Given the description of an element on the screen output the (x, y) to click on. 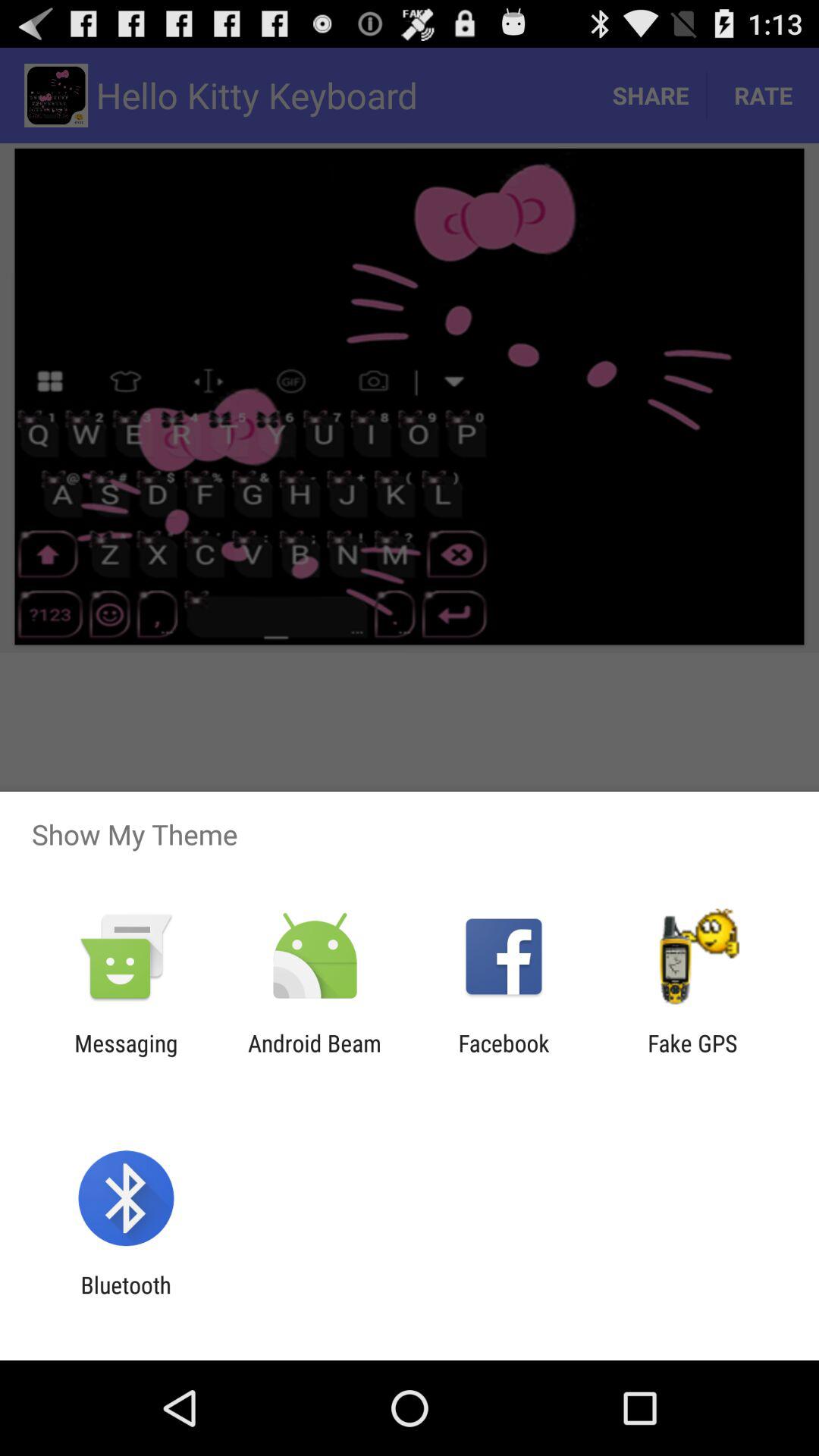
scroll until the fake gps item (692, 1056)
